Given the description of an element on the screen output the (x, y) to click on. 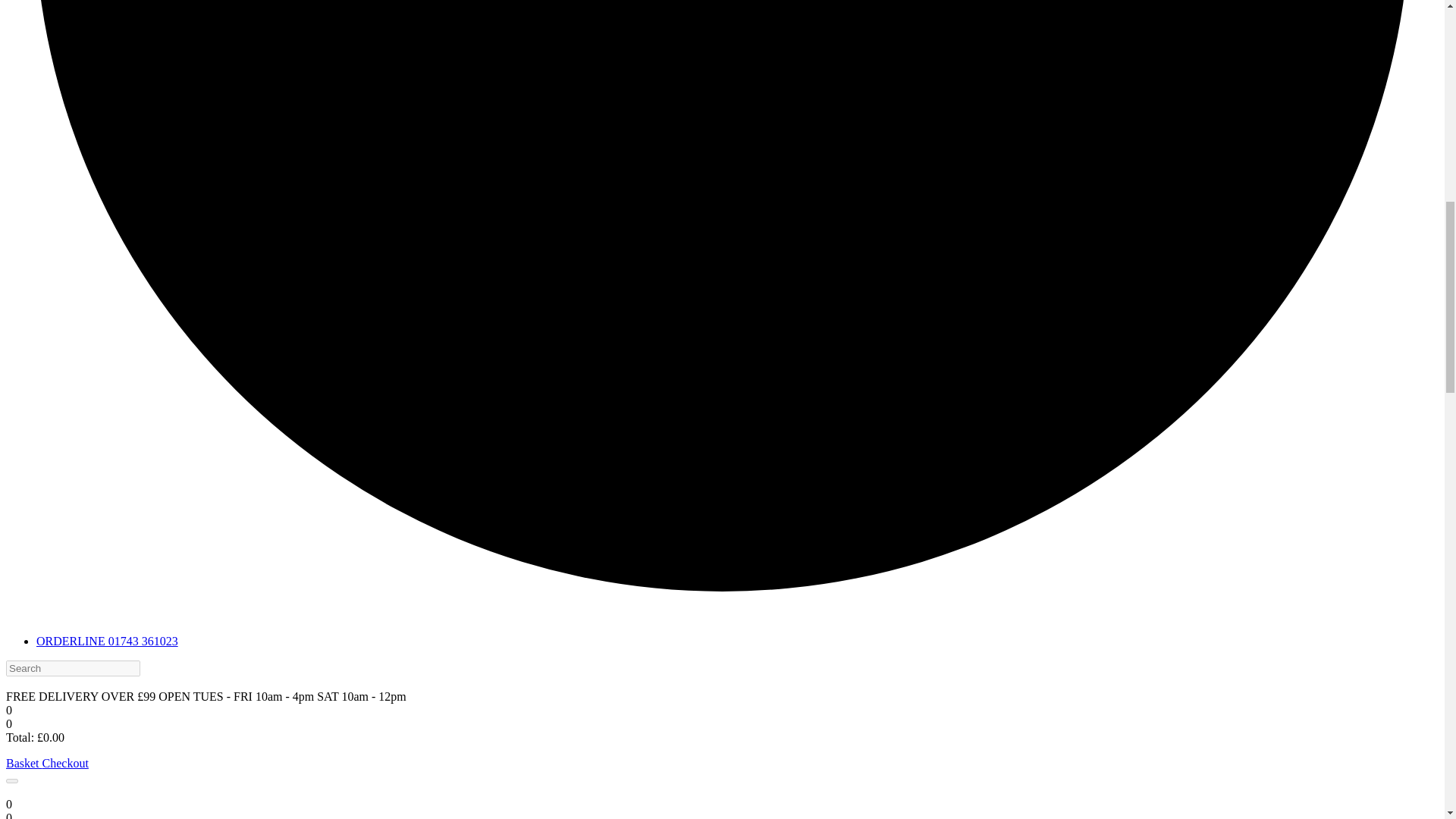
Basket (23, 762)
Checkout (65, 762)
ORDERLINE 01743 361023 (106, 640)
